Given the description of an element on the screen output the (x, y) to click on. 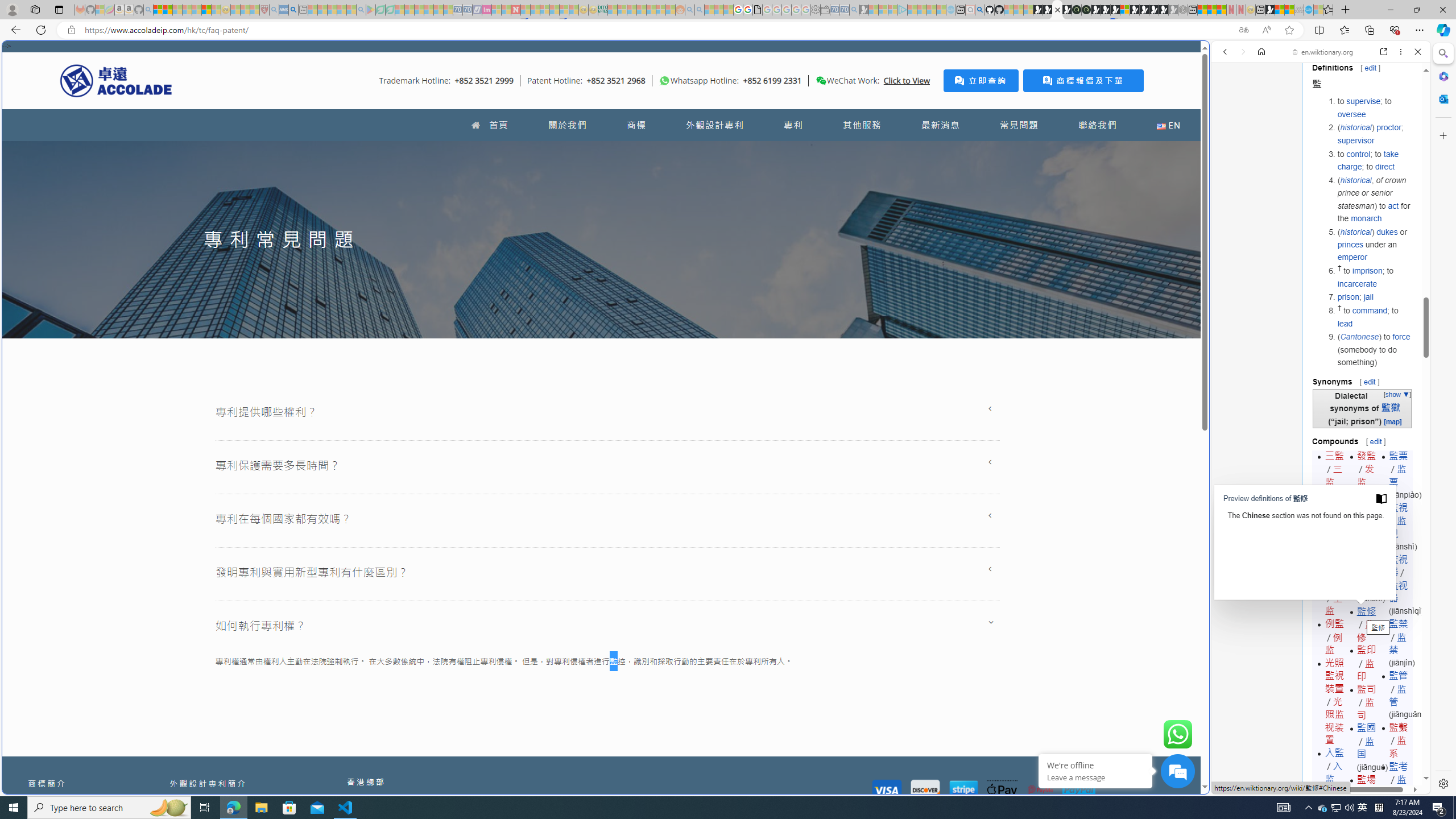
More options (1401, 51)
Wallet - Sleeping (824, 9)
